Given the description of an element on the screen output the (x, y) to click on. 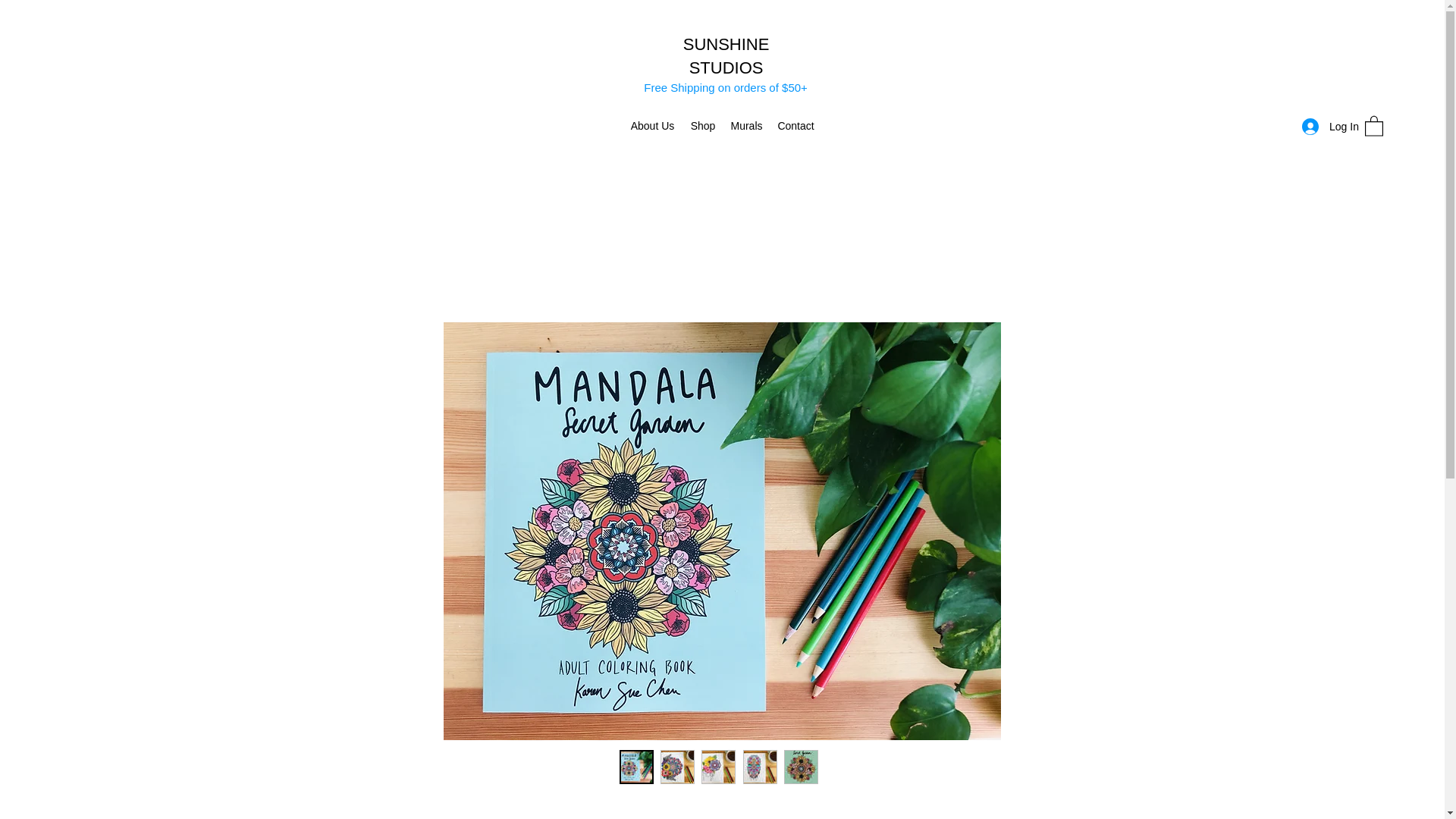
Murals (746, 125)
Log In (1325, 126)
SUNSHINE STUDIOS (726, 55)
Contact (795, 125)
